Given the description of an element on the screen output the (x, y) to click on. 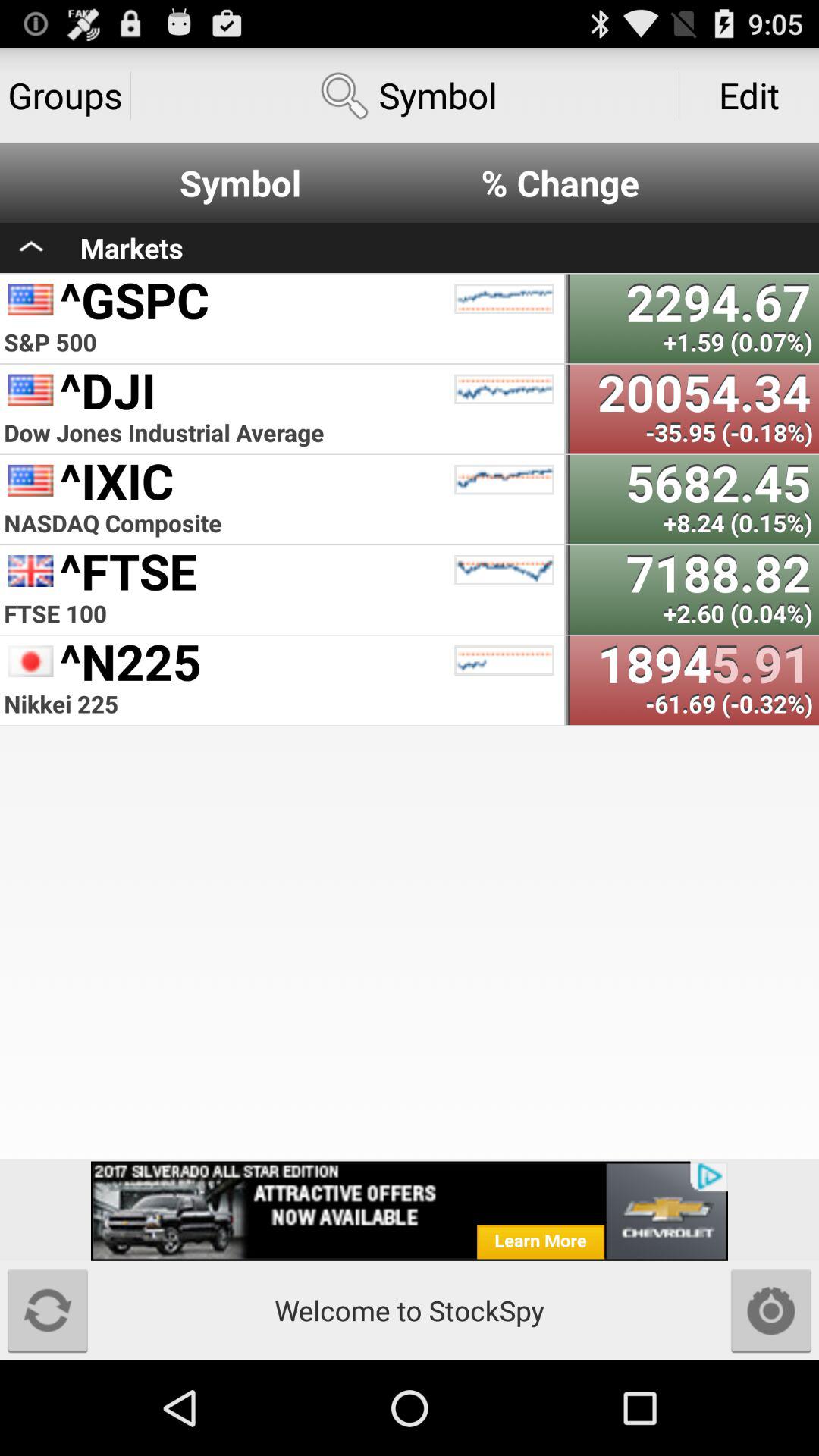
refresh (47, 1310)
